Given the description of an element on the screen output the (x, y) to click on. 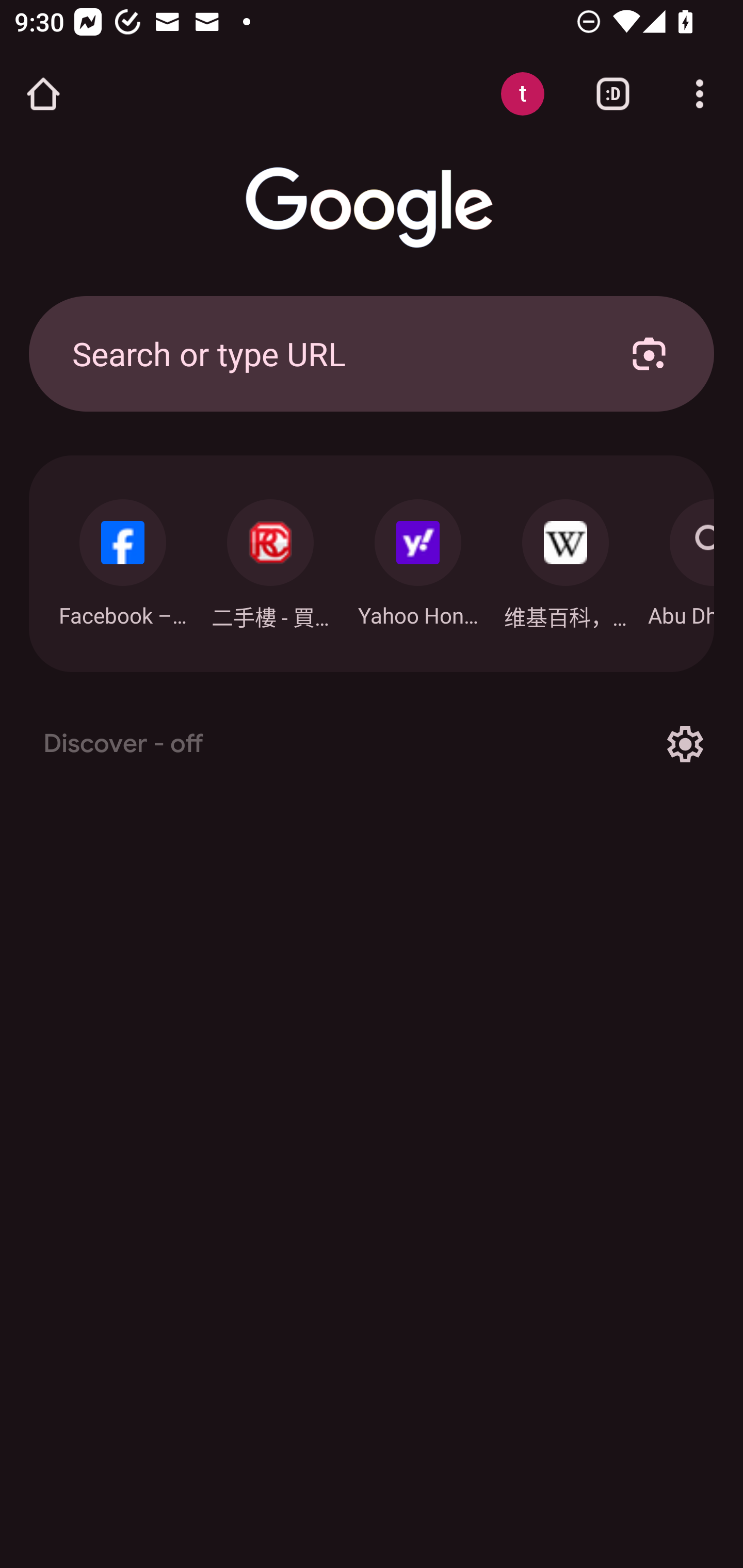
Open the home page (43, 93)
Switch or close tabs (612, 93)
Customize and control Google Chrome (699, 93)
Search or type URL (327, 353)
Search with your camera using Google Lens (648, 353)
Options for Discover (684, 743)
